Given the description of an element on the screen output the (x, y) to click on. 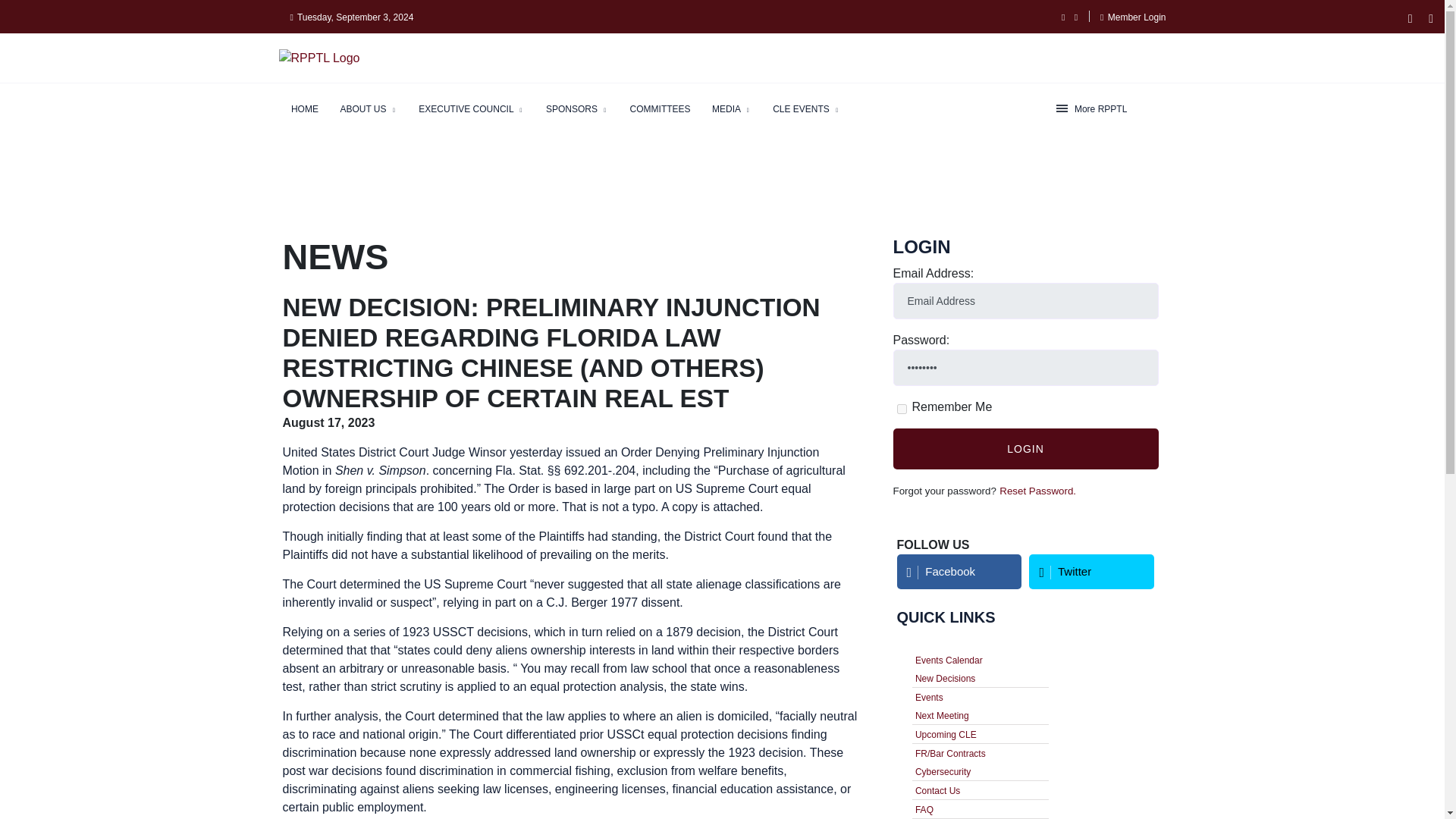
ABOUT US (368, 109)
SPONSORS (577, 109)
Today's Date (351, 17)
Member Login (1137, 17)
Email Address (1025, 300)
PASSWORD (1025, 367)
COMMITTEES (660, 109)
on (900, 409)
EXECUTIVE COUNCIL (470, 109)
Member Login (1133, 17)
